Given the description of an element on the screen output the (x, y) to click on. 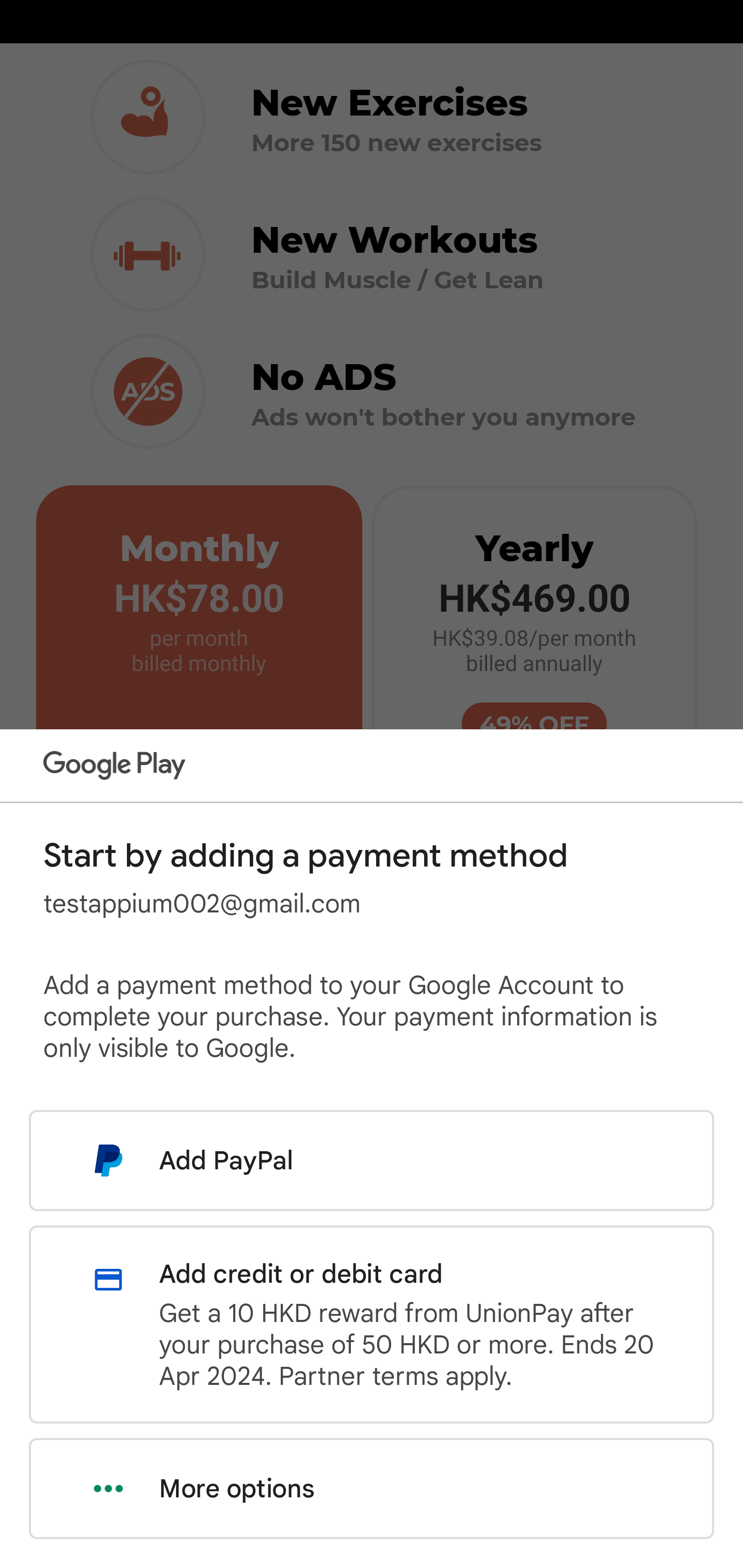
Add PayPal (371, 1160)
More options (371, 1488)
